Given the description of an element on the screen output the (x, y) to click on. 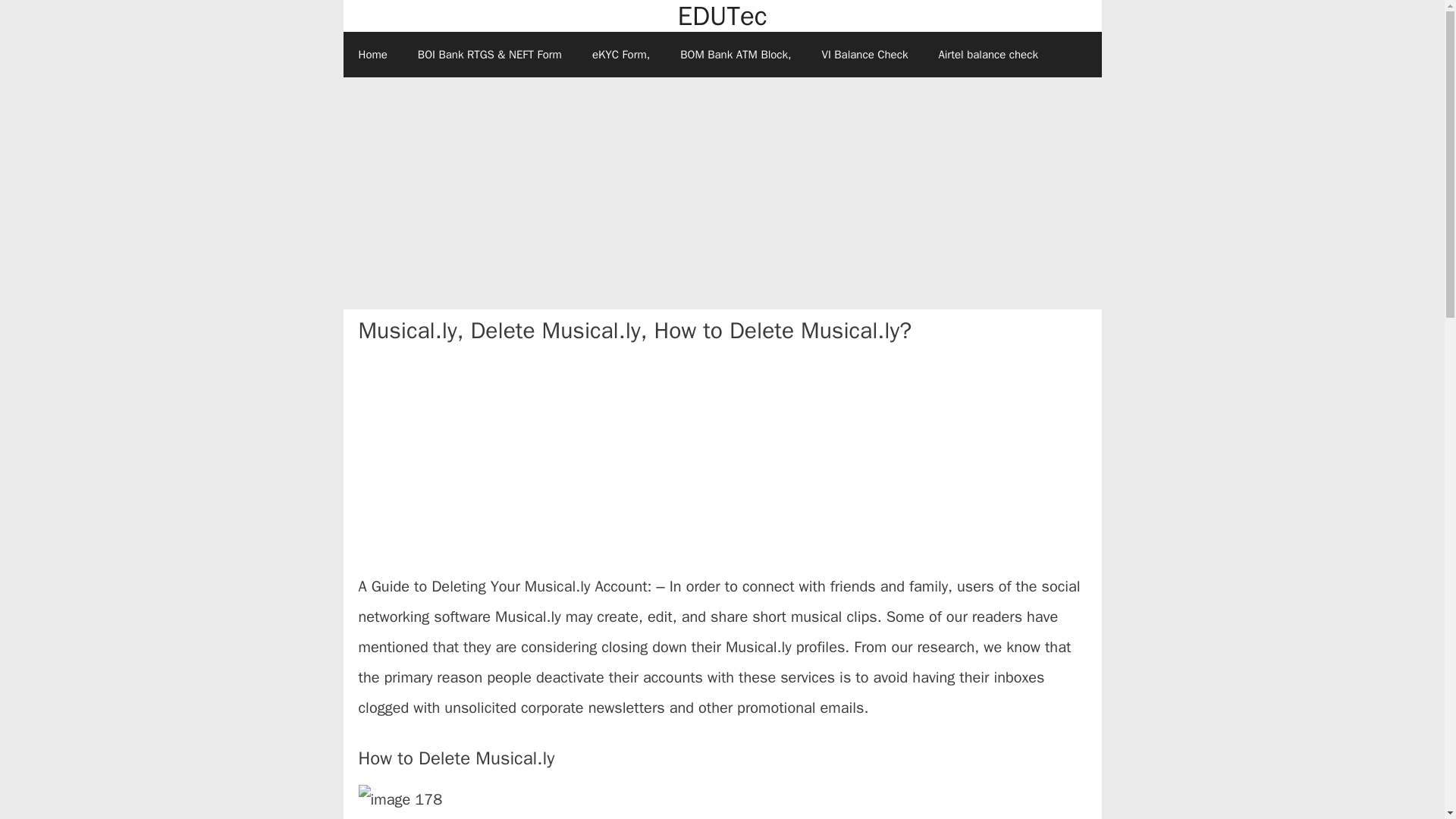
eKYC Form, (620, 53)
EDUTec (722, 16)
Airtel balance check (987, 53)
VI Balance Check (864, 53)
Home (371, 53)
BOM Bank ATM Block, (735, 53)
